Given the description of an element on the screen output the (x, y) to click on. 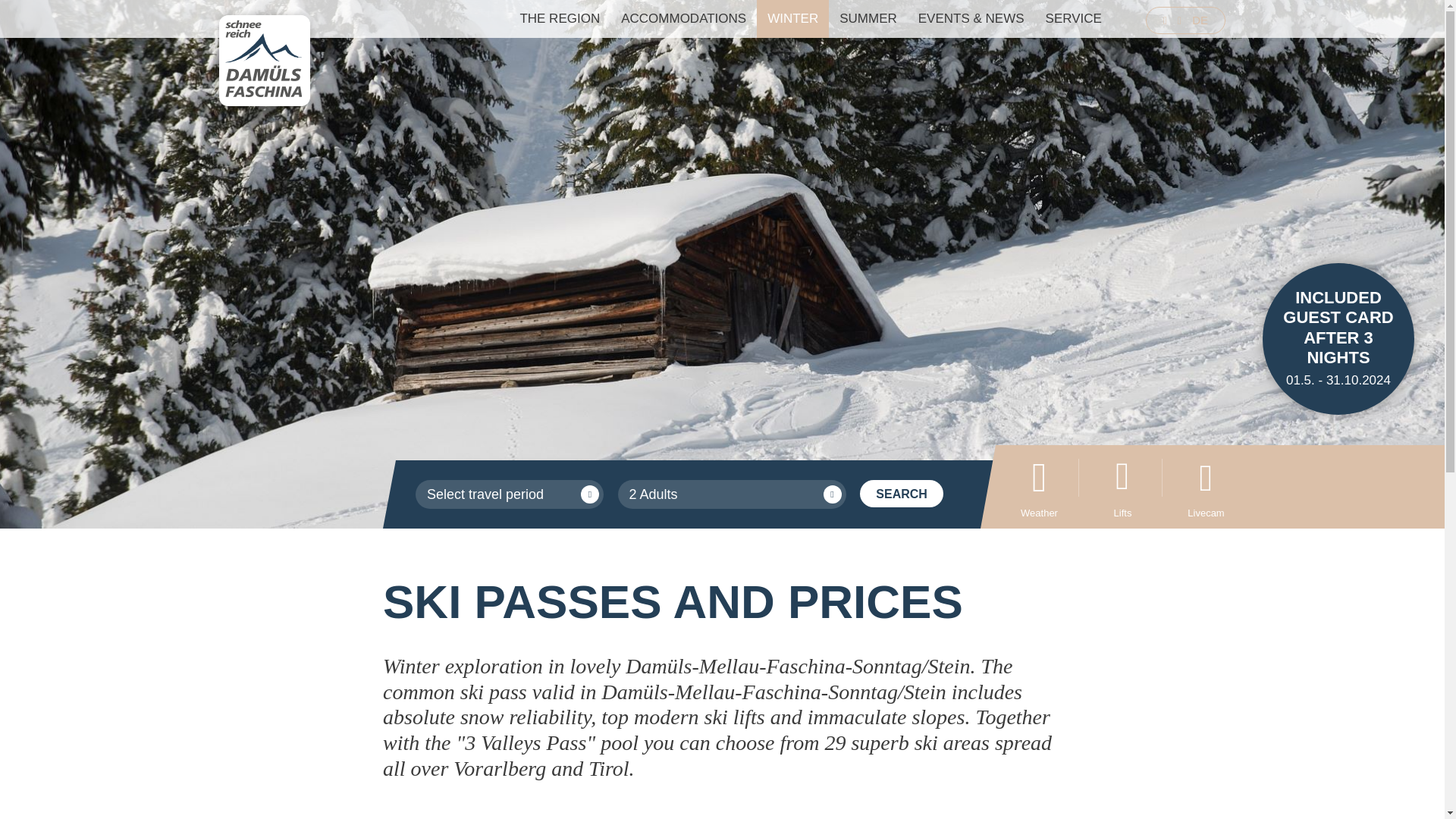
ACCOMMODATIONS (683, 18)
WINTER (792, 18)
Search (901, 492)
THE REGION (559, 18)
